Given the description of an element on the screen output the (x, y) to click on. 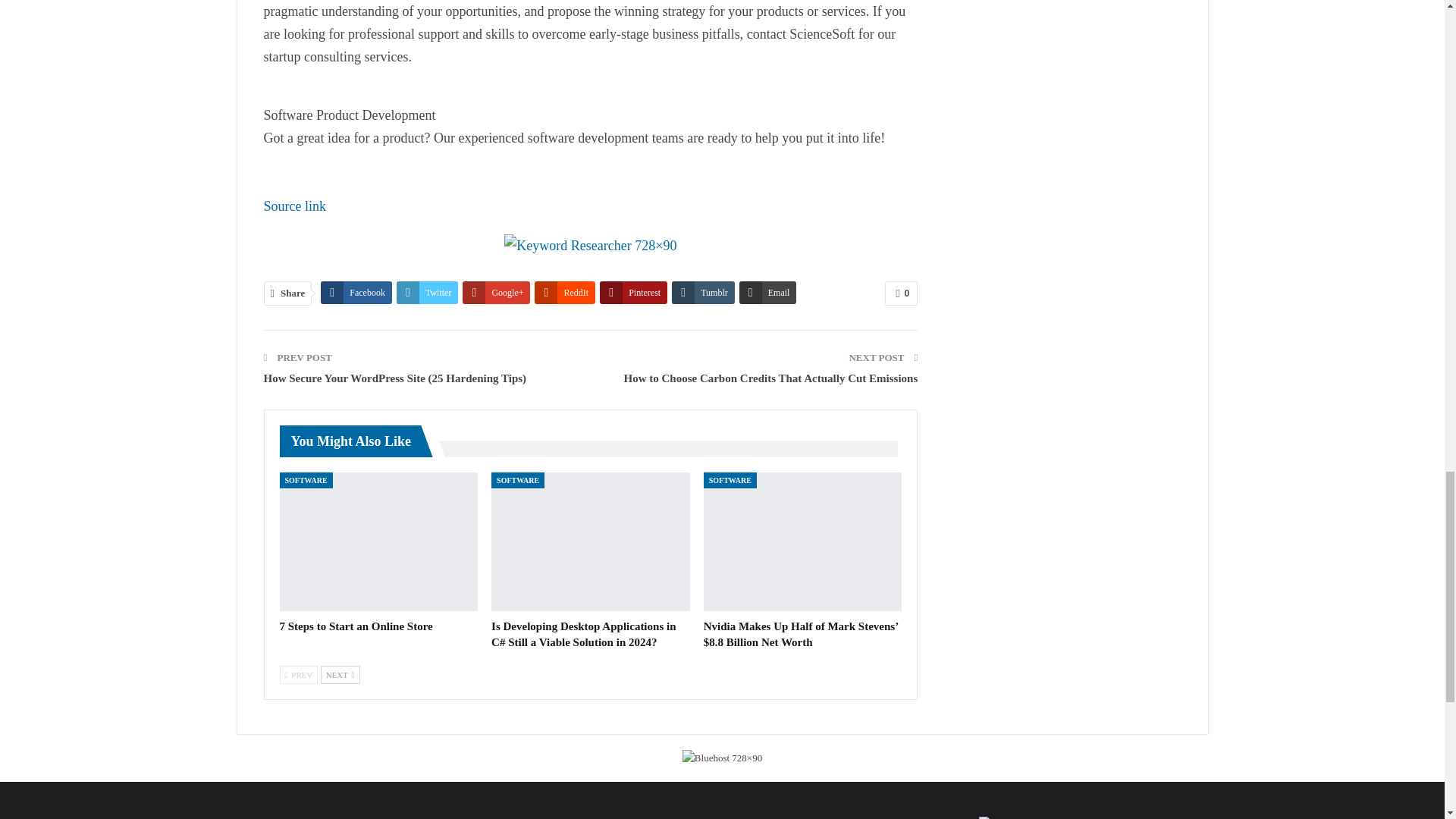
Previous (298, 674)
Twitter (427, 292)
7 Steps to Start an Online Store (378, 541)
Source link (294, 206)
Facebook (355, 292)
7 Steps to Start an Online Store (355, 625)
How to Choose Carbon Credits That Actually Cut Emissions (770, 378)
Tumblr (703, 292)
SOFTWARE (305, 480)
0 (901, 293)
Next (339, 674)
ReddIt (564, 292)
Pinterest (632, 292)
Email (767, 292)
